Given the description of an element on the screen output the (x, y) to click on. 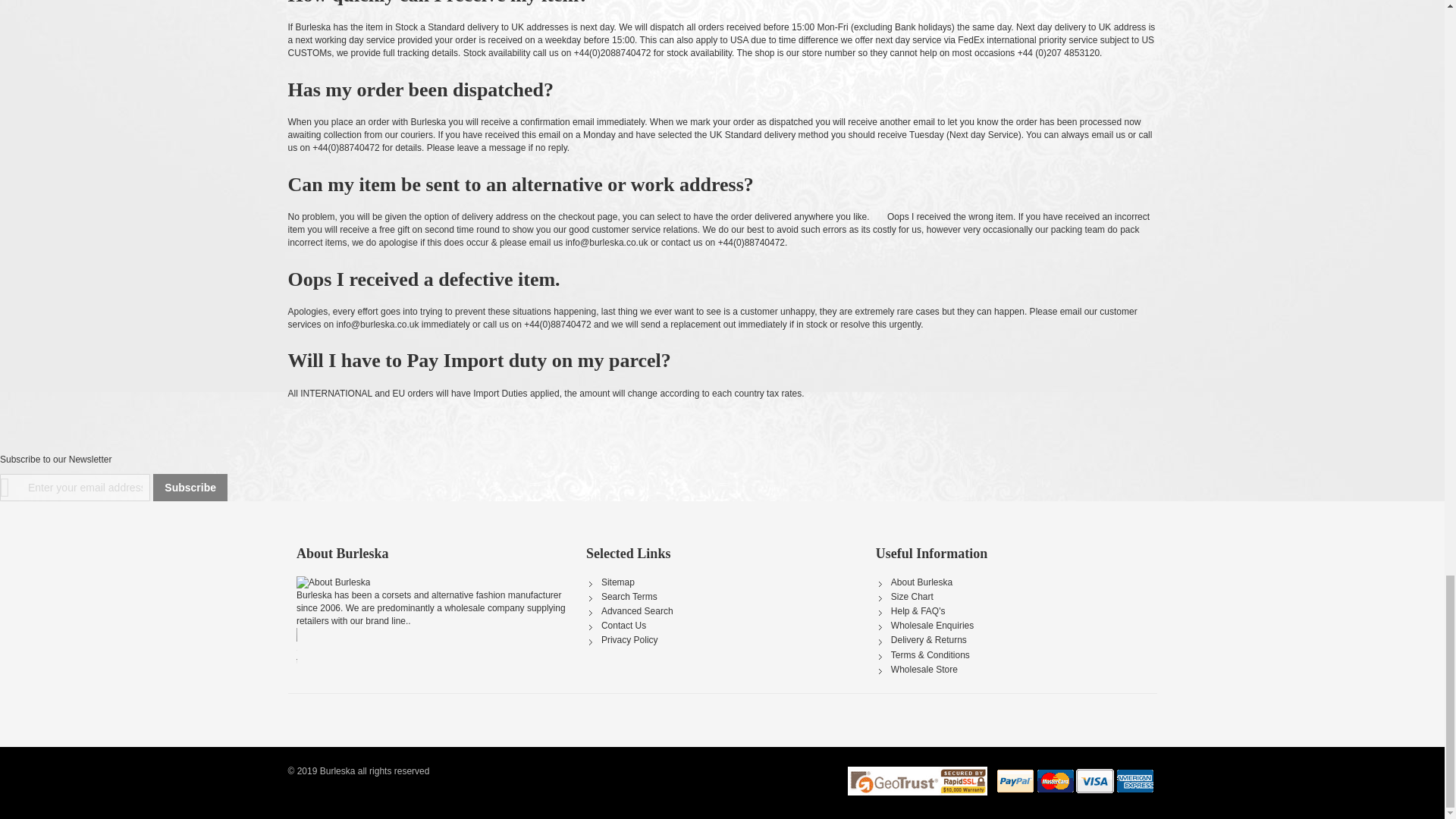
Subscribe (189, 487)
 SSL Certificate (916, 781)
Accepted payment methods (1074, 781)
